Given the description of an element on the screen output the (x, y) to click on. 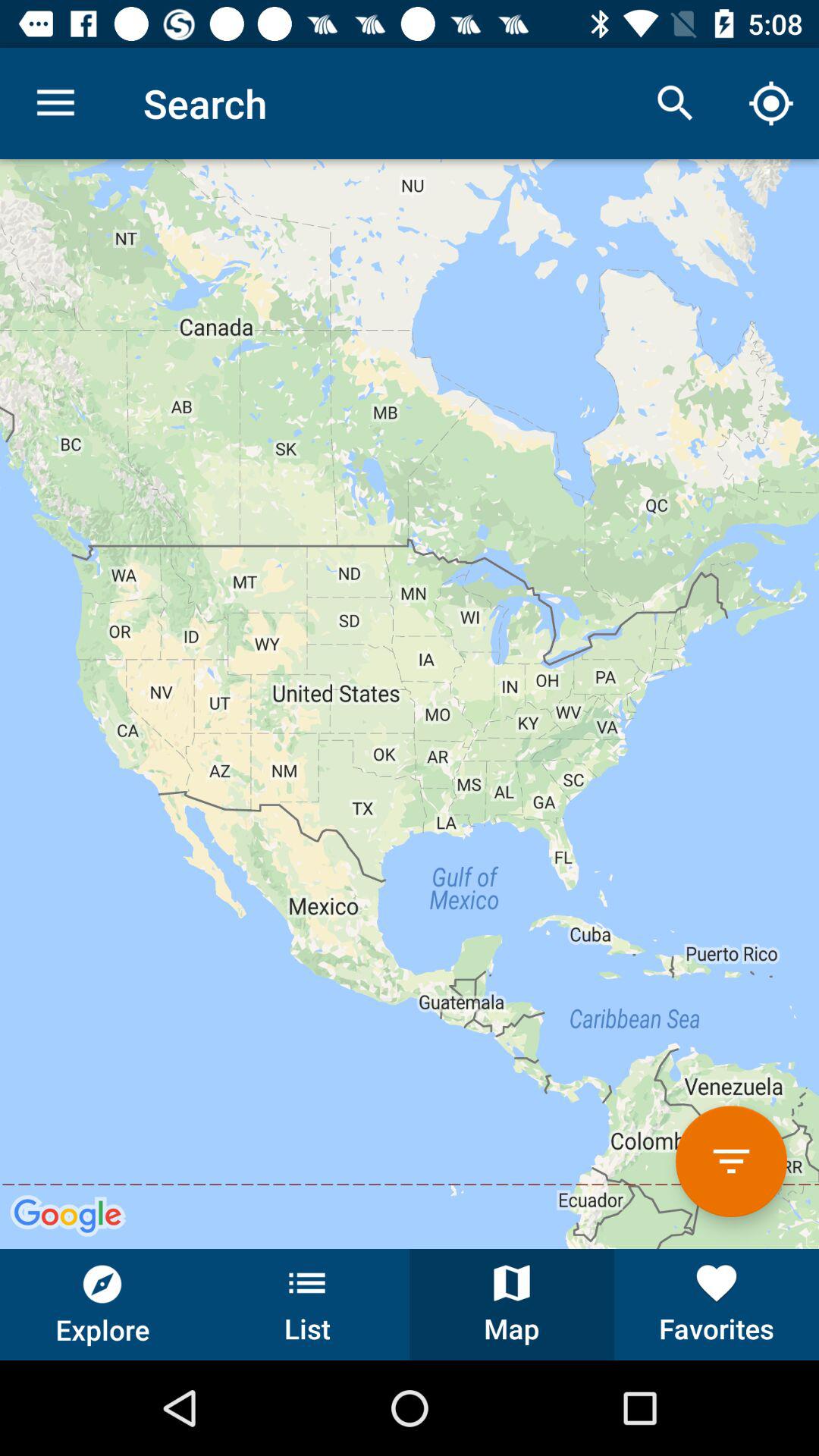
jump to favorites item (716, 1304)
